Given the description of an element on the screen output the (x, y) to click on. 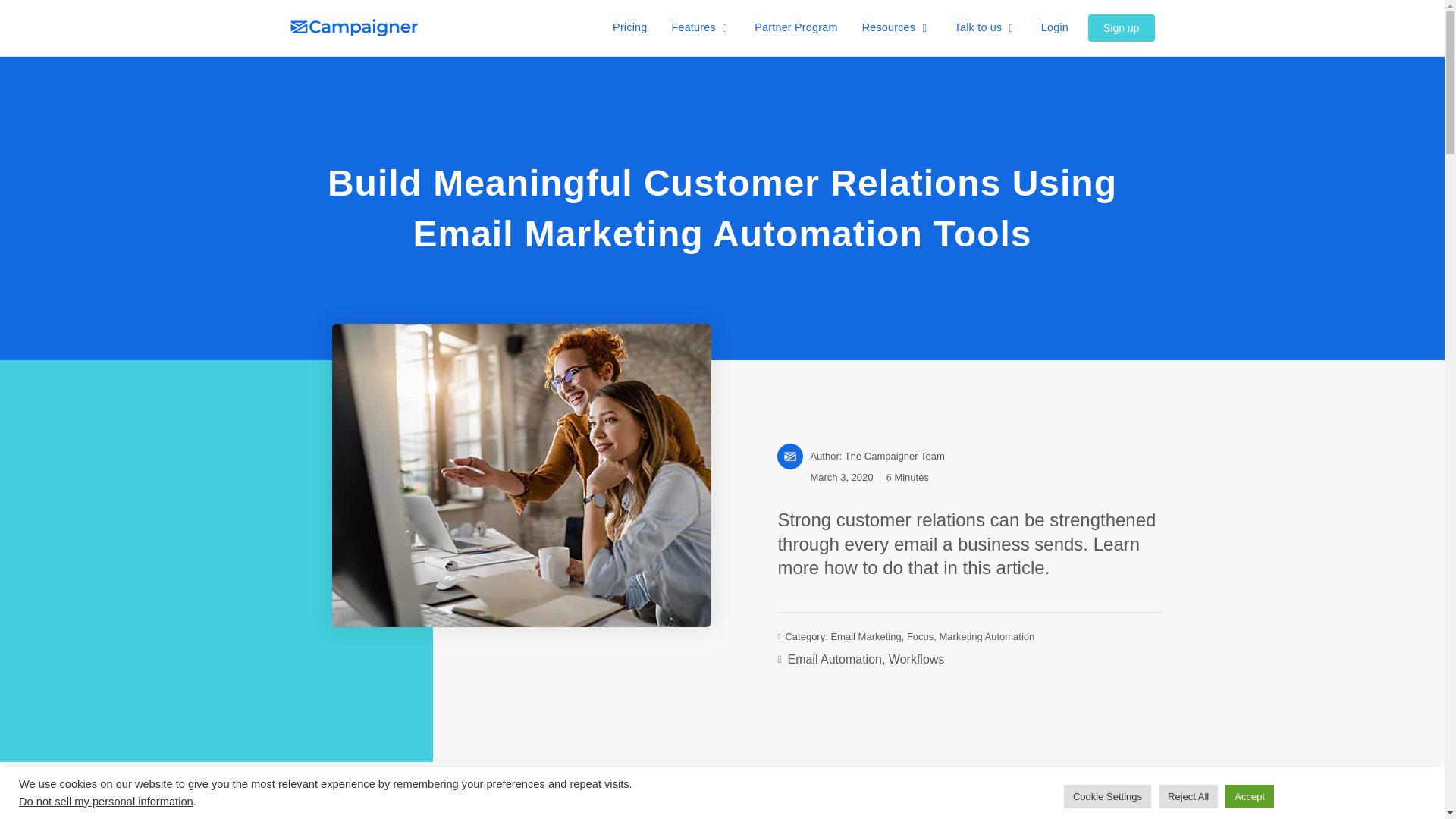
Email Marketing (865, 636)
Sign up (1120, 27)
Partner Program (795, 27)
Pricing (629, 27)
Login (1054, 27)
